Given the description of an element on the screen output the (x, y) to click on. 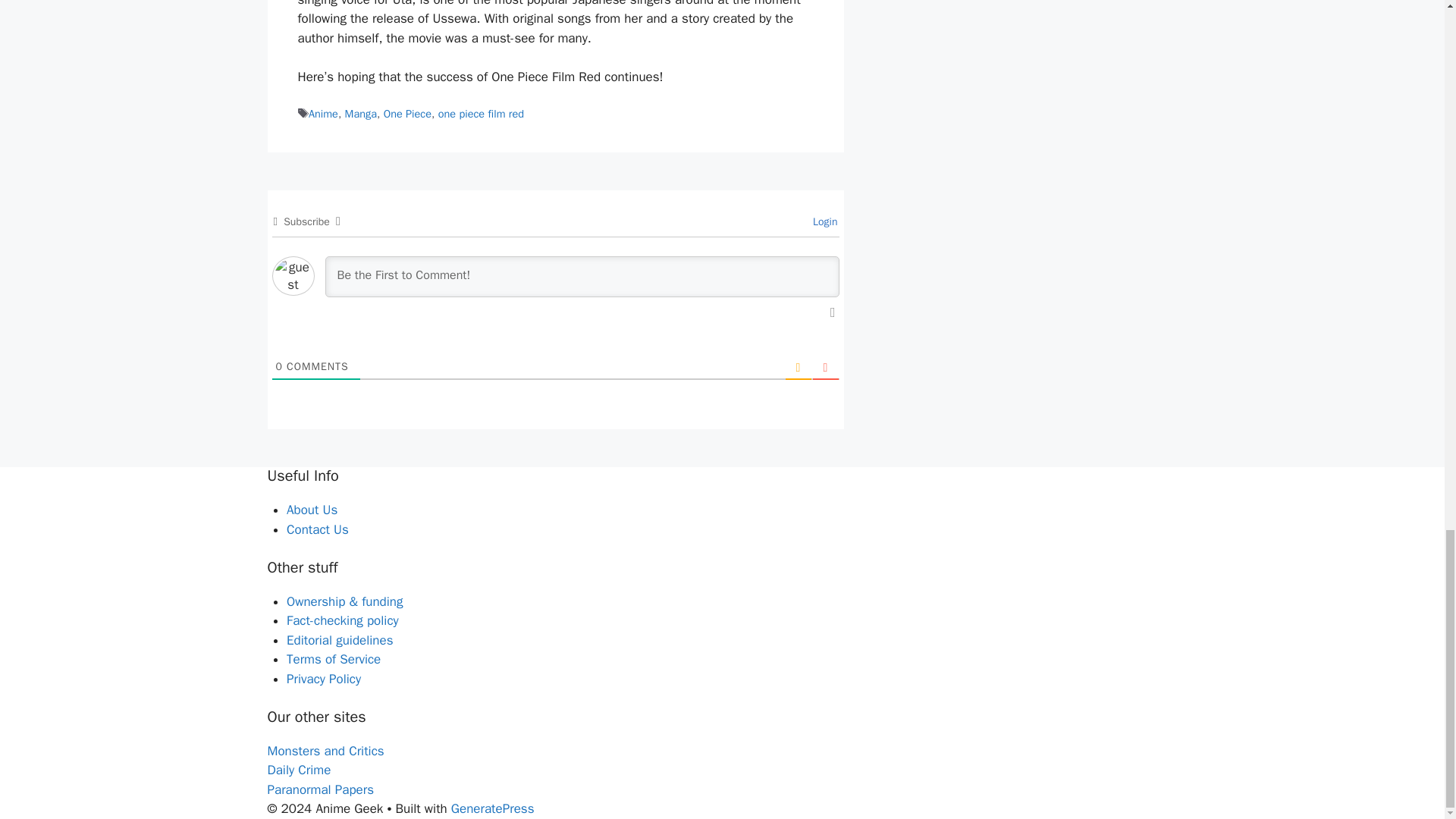
Anime (322, 113)
one piece film red (481, 113)
Login (823, 221)
One Piece (407, 113)
Manga (361, 113)
